Given the description of an element on the screen output the (x, y) to click on. 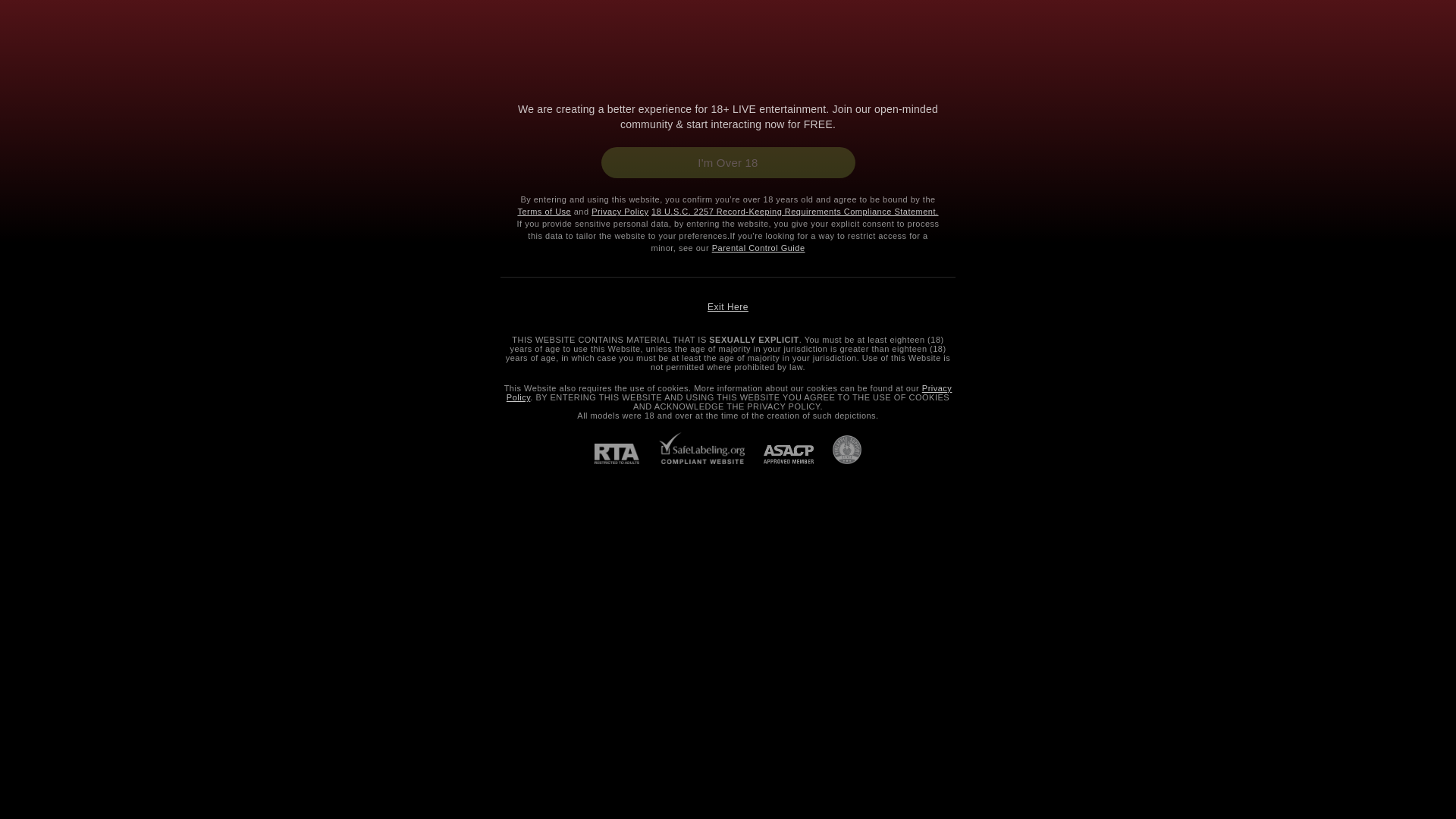
Exit Here (727, 307)
Privacy Policy (619, 211)
Parental Control Guide (758, 247)
Privacy Policy (729, 393)
I'm Over 18 (726, 162)
Terms of Use (543, 211)
